Given the description of an element on the screen output the (x, y) to click on. 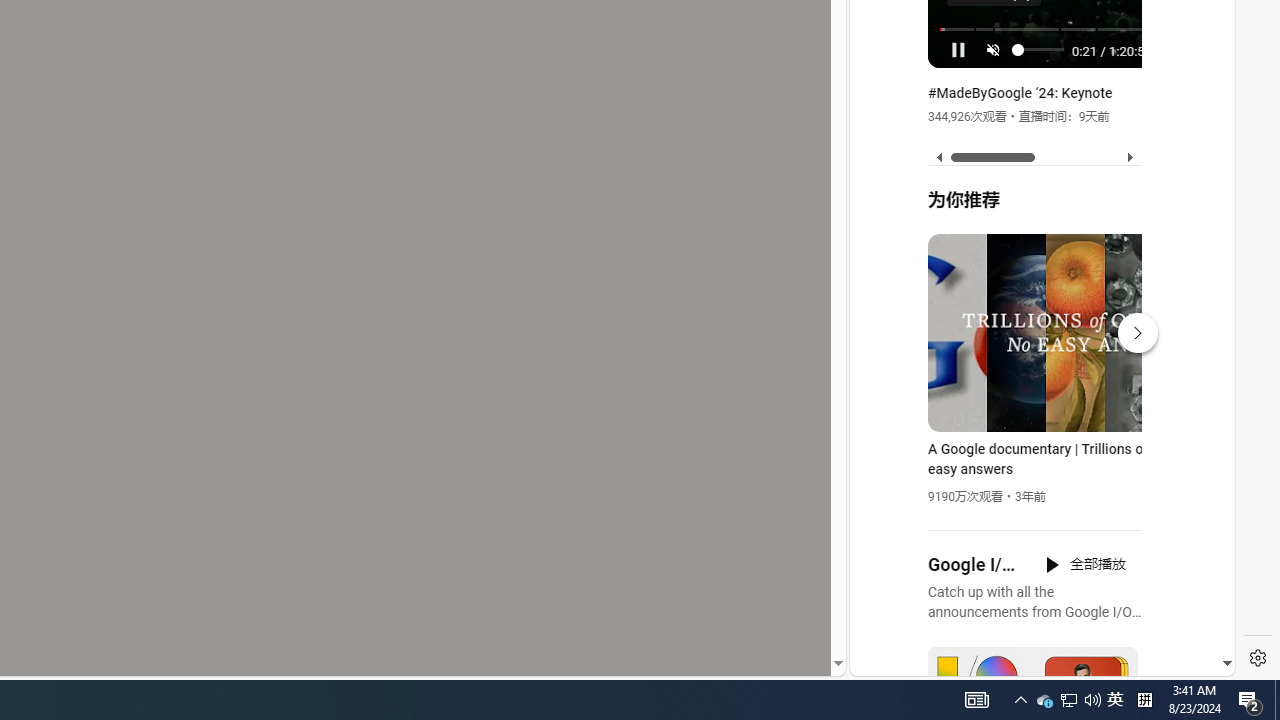
you (1034, 609)
Click to scroll right (1196, 83)
Class: dict_pnIcon rms_img (1028, 660)
US[ju] (917, 660)
YouTube (1034, 432)
YouTube - YouTube (1034, 266)
